Given the description of an element on the screen output the (x, y) to click on. 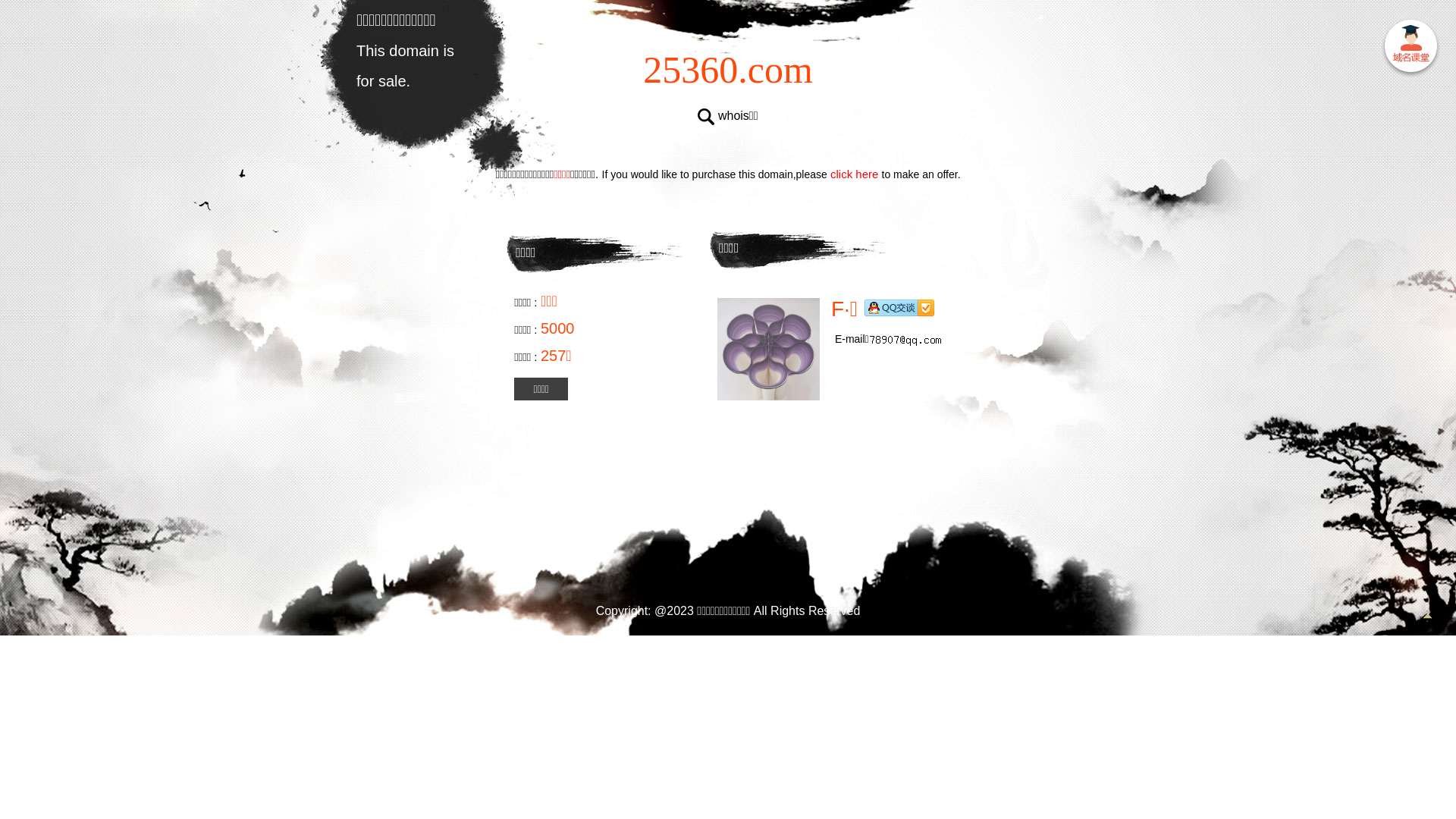
click here Element type: text (854, 173)
  Element type: text (1410, 48)
